Given the description of an element on the screen output the (x, y) to click on. 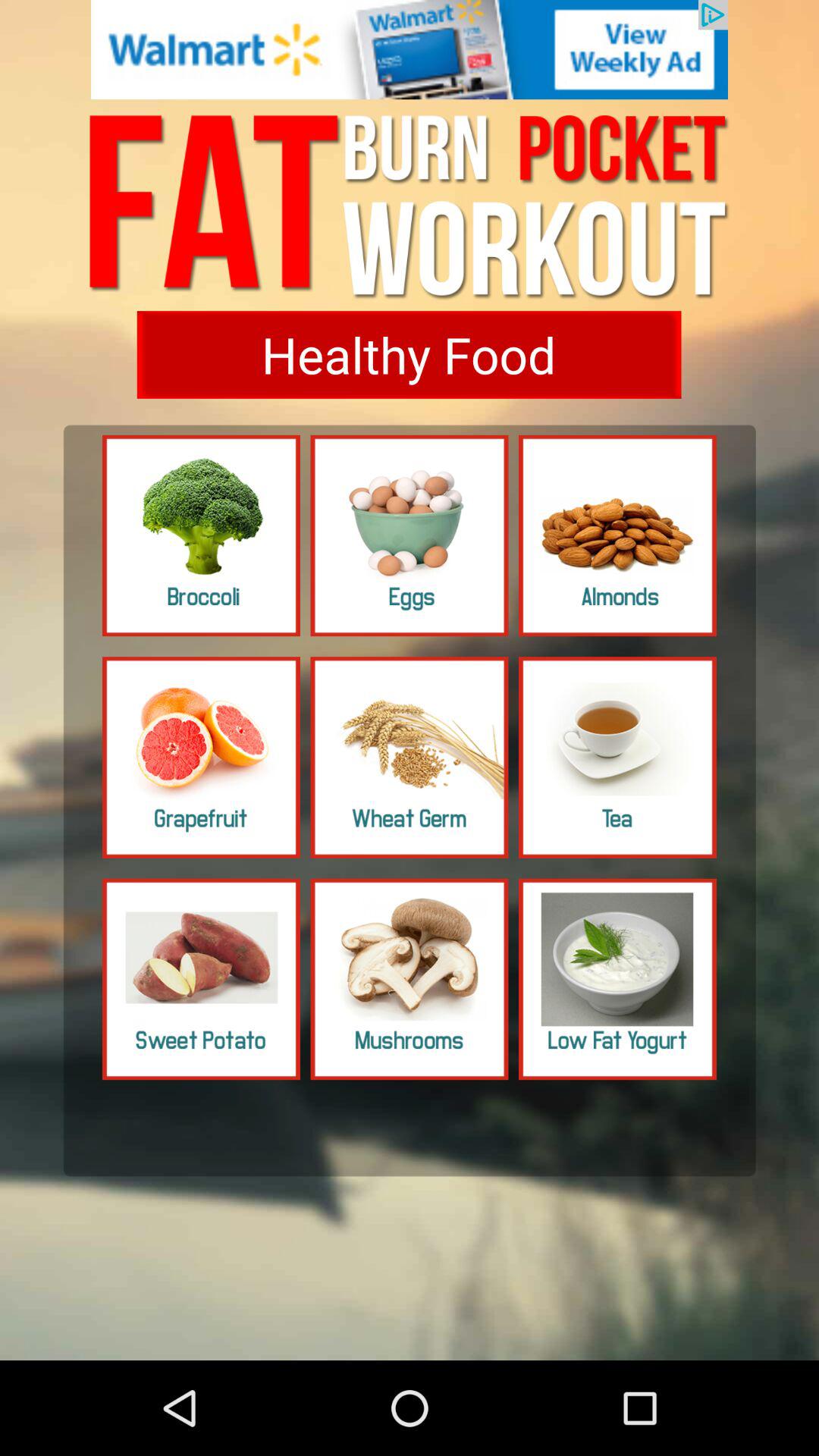
food options (409, 535)
